Given the description of an element on the screen output the (x, y) to click on. 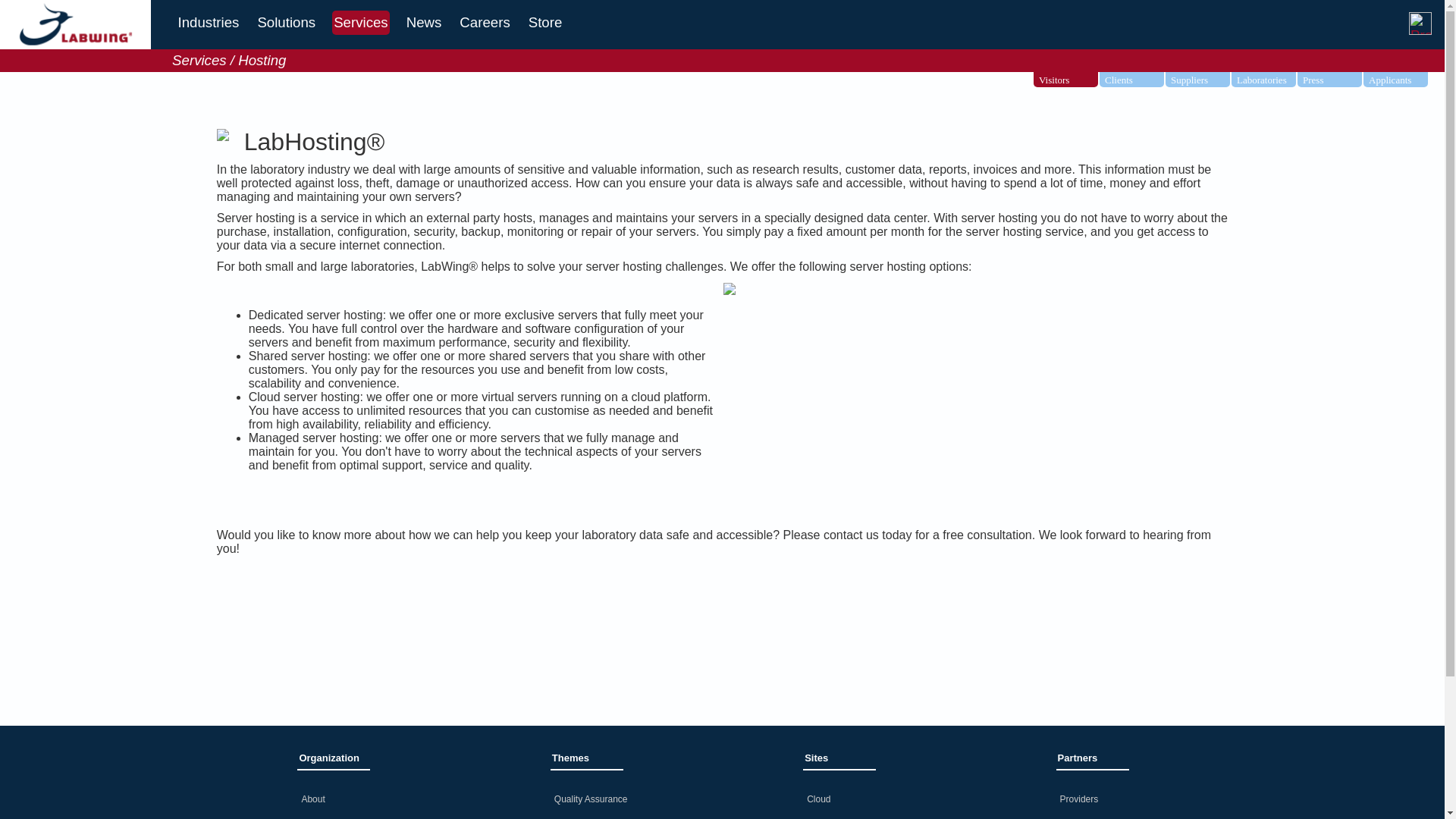
Solutions (286, 22)
Careers (484, 22)
Industries (208, 22)
Services (360, 22)
Press (1339, 79)
Clients (1141, 79)
Services (360, 22)
Applicants (1404, 79)
Laboratories (1272, 79)
Visitors (1074, 79)
